Given the description of an element on the screen output the (x, y) to click on. 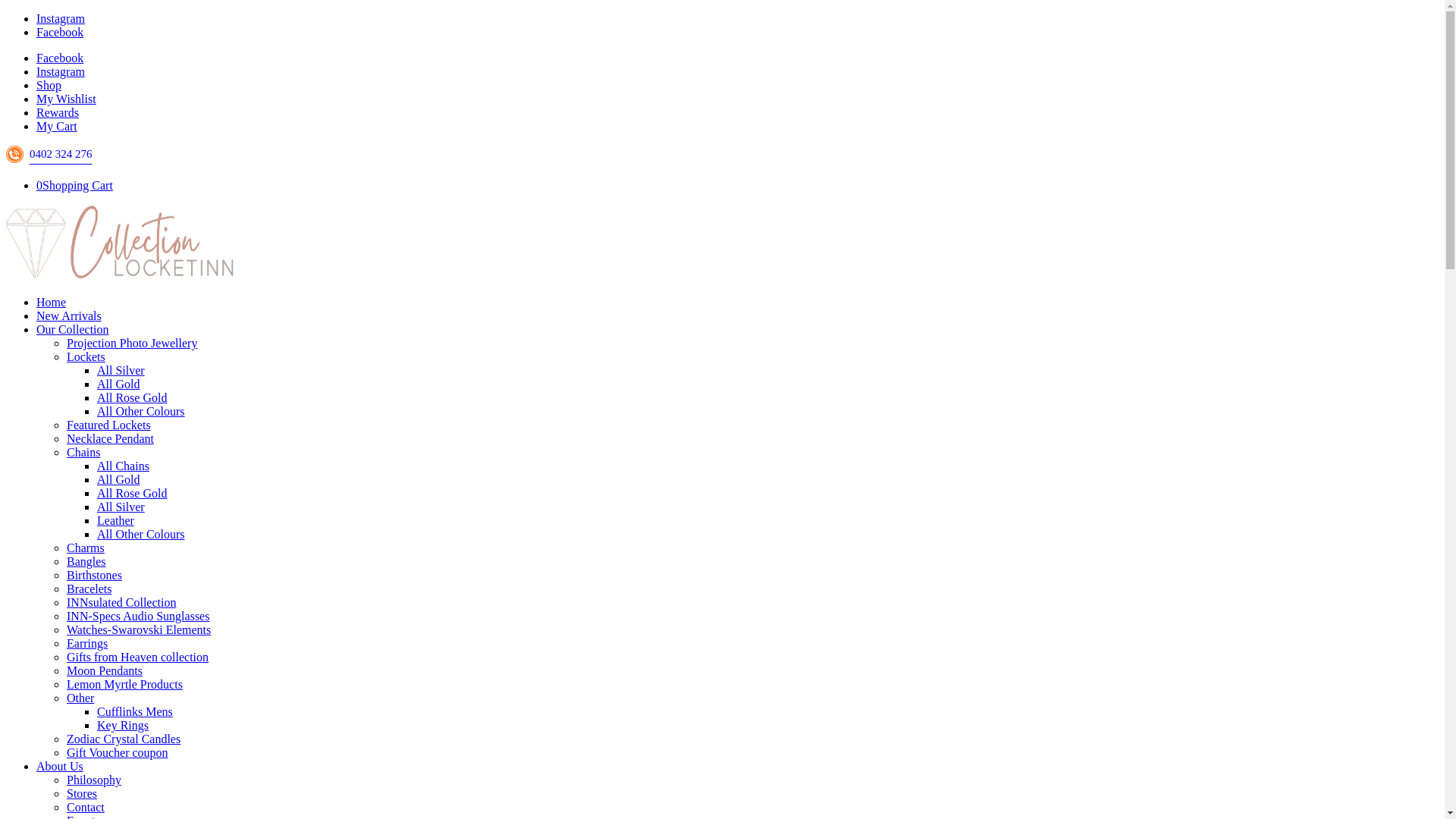
Lemon Myrtle Products Element type: text (124, 683)
Moon Pendants Element type: text (104, 670)
New Arrivals Element type: text (68, 315)
Instagram Element type: text (60, 71)
Featured Lockets Element type: text (108, 424)
Leather Element type: text (115, 520)
Necklace Pendant Element type: text (109, 438)
All Rose Gold Element type: text (131, 492)
All Chains Element type: text (123, 465)
Gift Voucher coupon Element type: text (117, 752)
Bangles Element type: text (86, 561)
Zodiac Crystal Candles Element type: text (123, 738)
All Gold Element type: text (118, 383)
My Wishlist Element type: text (66, 98)
Facebook Element type: text (59, 31)
Other Element type: text (80, 697)
Cufflinks Mens Element type: text (134, 711)
Projection Photo Jewellery Element type: text (131, 342)
Bracelets Element type: text (89, 588)
About Us Element type: text (59, 765)
Lockets Element type: text (85, 356)
locketinn_collections_logo3 Element type: hover (119, 242)
Shop Element type: text (48, 84)
All Rose Gold Element type: text (131, 397)
Gifts from Heaven collection Element type: text (137, 656)
Rewards Element type: text (57, 112)
All Other Colours Element type: text (141, 533)
Key Rings Element type: text (122, 724)
INNsulated Collection Element type: text (120, 602)
Charms Element type: text (85, 547)
All Other Colours Element type: text (141, 410)
Earrings Element type: text (86, 643)
0402 324 276 Element type: text (60, 158)
Watches-Swarovski Elements Element type: text (138, 629)
Contact Element type: text (85, 806)
INN-Specs Audio Sunglasses Element type: text (137, 615)
Chains Element type: text (83, 451)
My Cart Element type: text (56, 125)
All Silver Element type: text (120, 506)
Home Element type: text (50, 301)
Birthstones Element type: text (94, 574)
0Shopping Cart Element type: text (74, 184)
Facebook Element type: text (59, 57)
Instagram Element type: text (60, 18)
Stores Element type: text (81, 793)
All Silver Element type: text (120, 370)
Philosophy Element type: text (93, 779)
All Gold Element type: text (118, 479)
Our Collection Element type: text (72, 329)
